Given the description of an element on the screen output the (x, y) to click on. 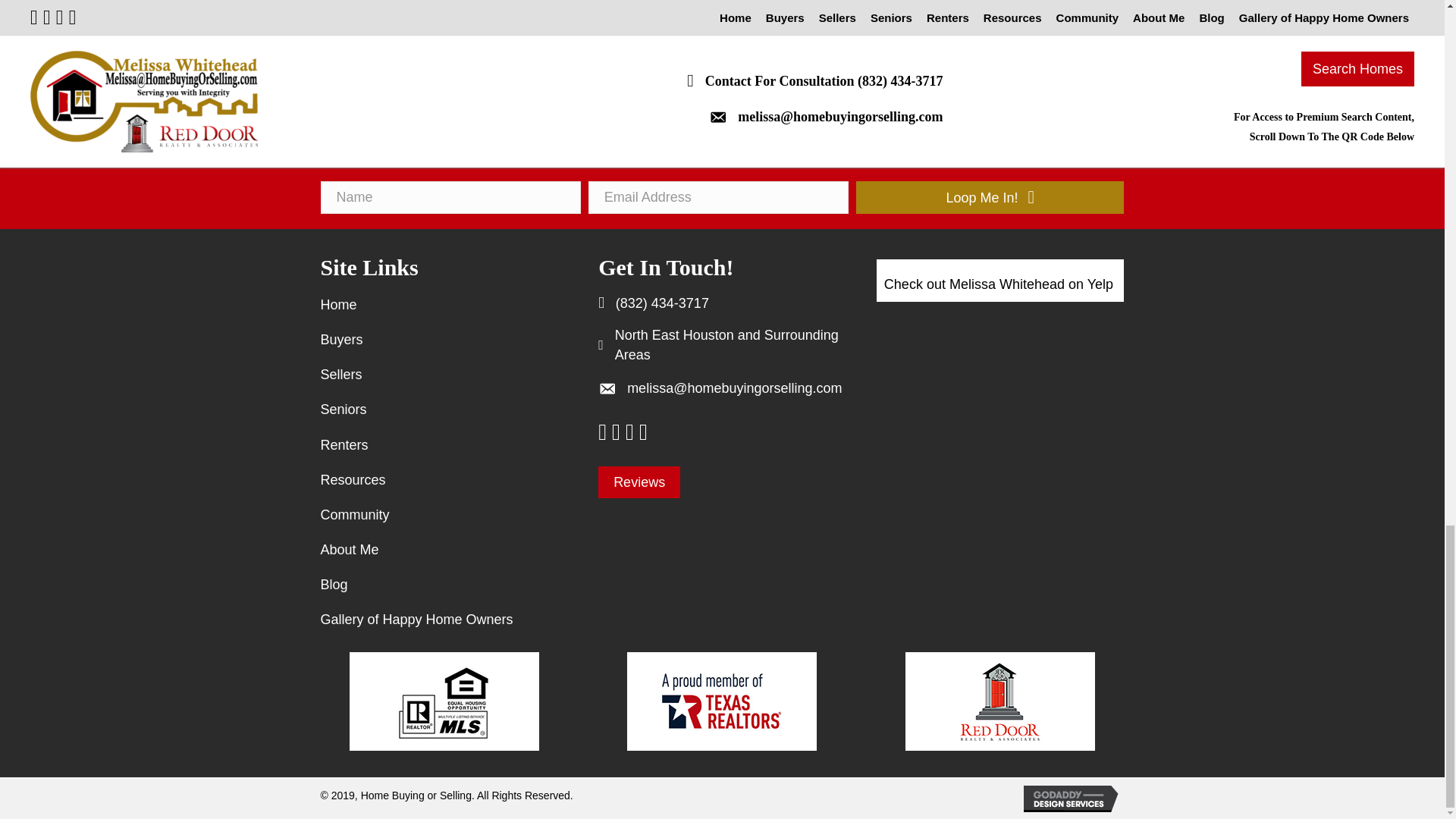
Buyers (440, 339)
Loop Me In! (990, 196)
Home (440, 304)
